Given the description of an element on the screen output the (x, y) to click on. 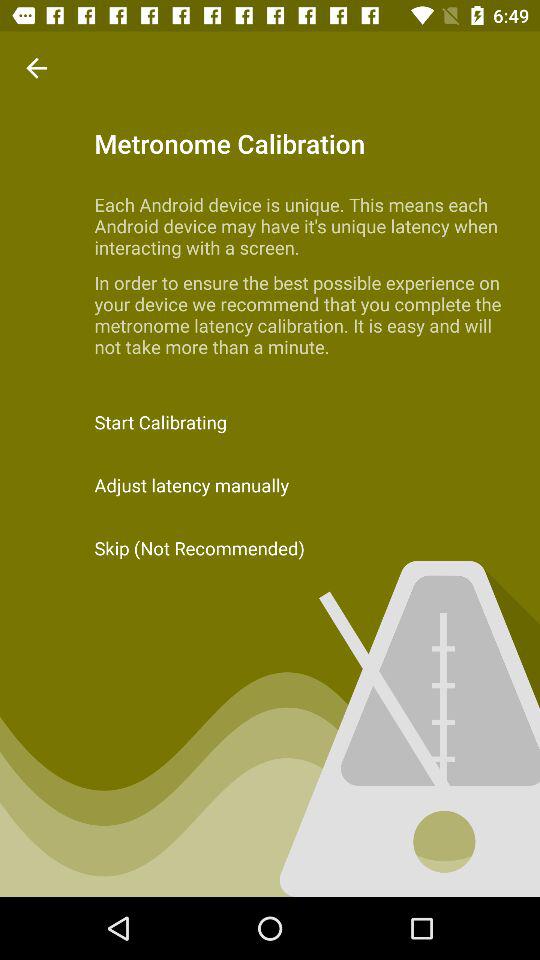
click the icon above the adjust latency manually (270, 421)
